Given the description of an element on the screen output the (x, y) to click on. 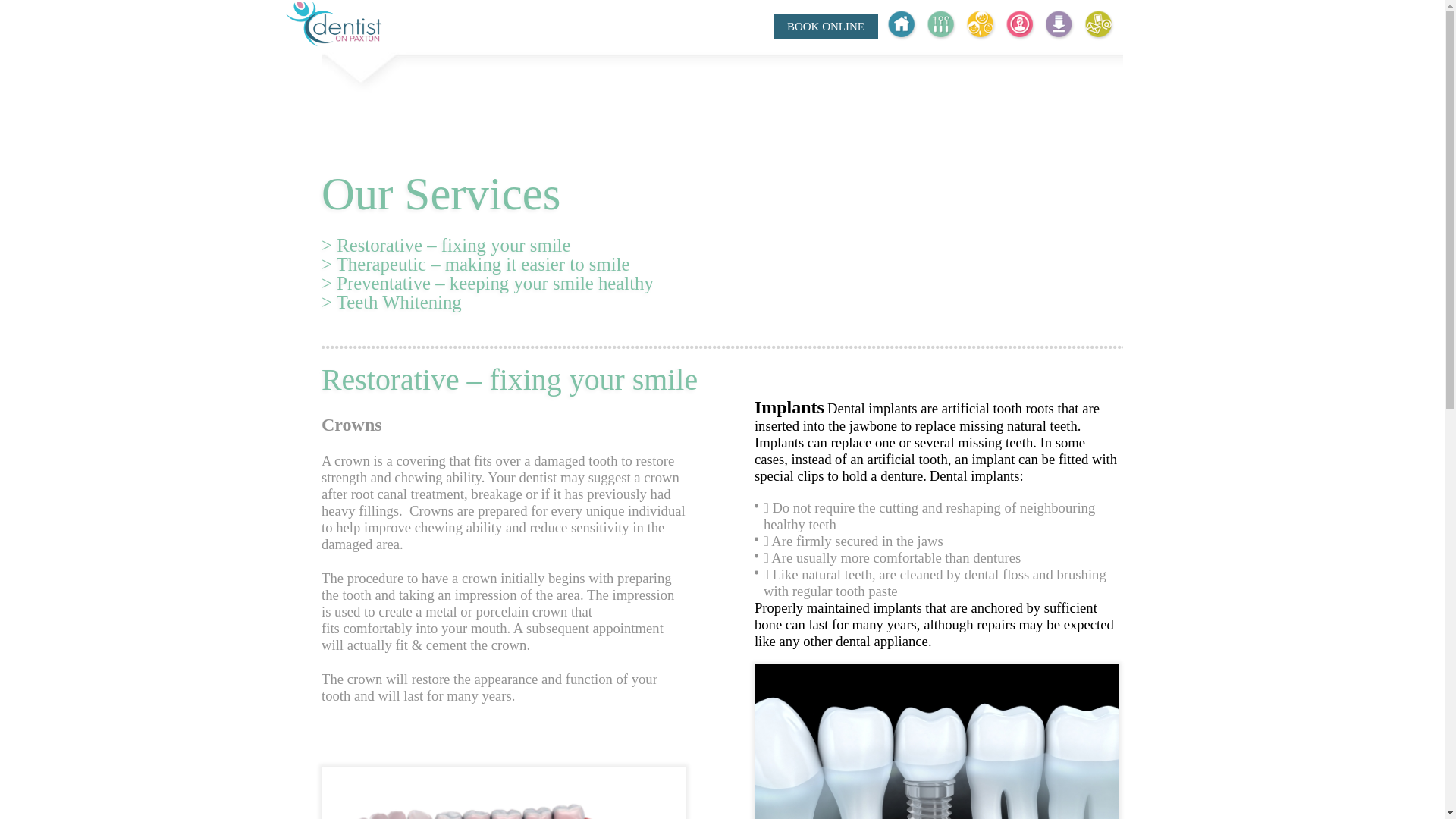
Dentist On paxton (333, 23)
BOOK ONLINE (833, 24)
